Given the description of an element on the screen output the (x, y) to click on. 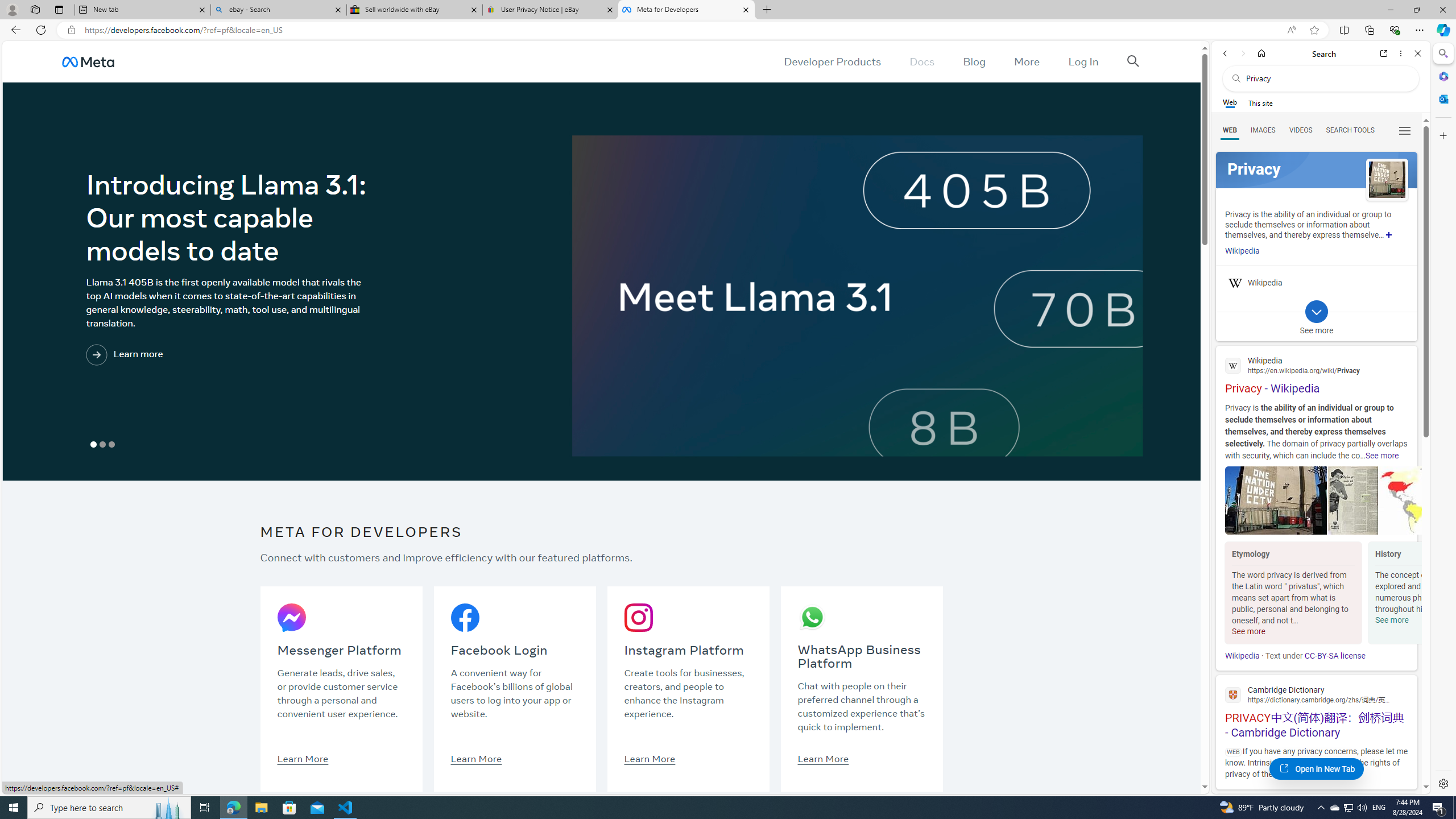
Search Filter, Search Tools (1350, 129)
Class: b_exp_chevron_svg b_expmob_chev (1315, 311)
This site scope (1259, 102)
Cambridge Dictionary (1315, 693)
Show Slide 3 (112, 444)
